Given the description of an element on the screen output the (x, y) to click on. 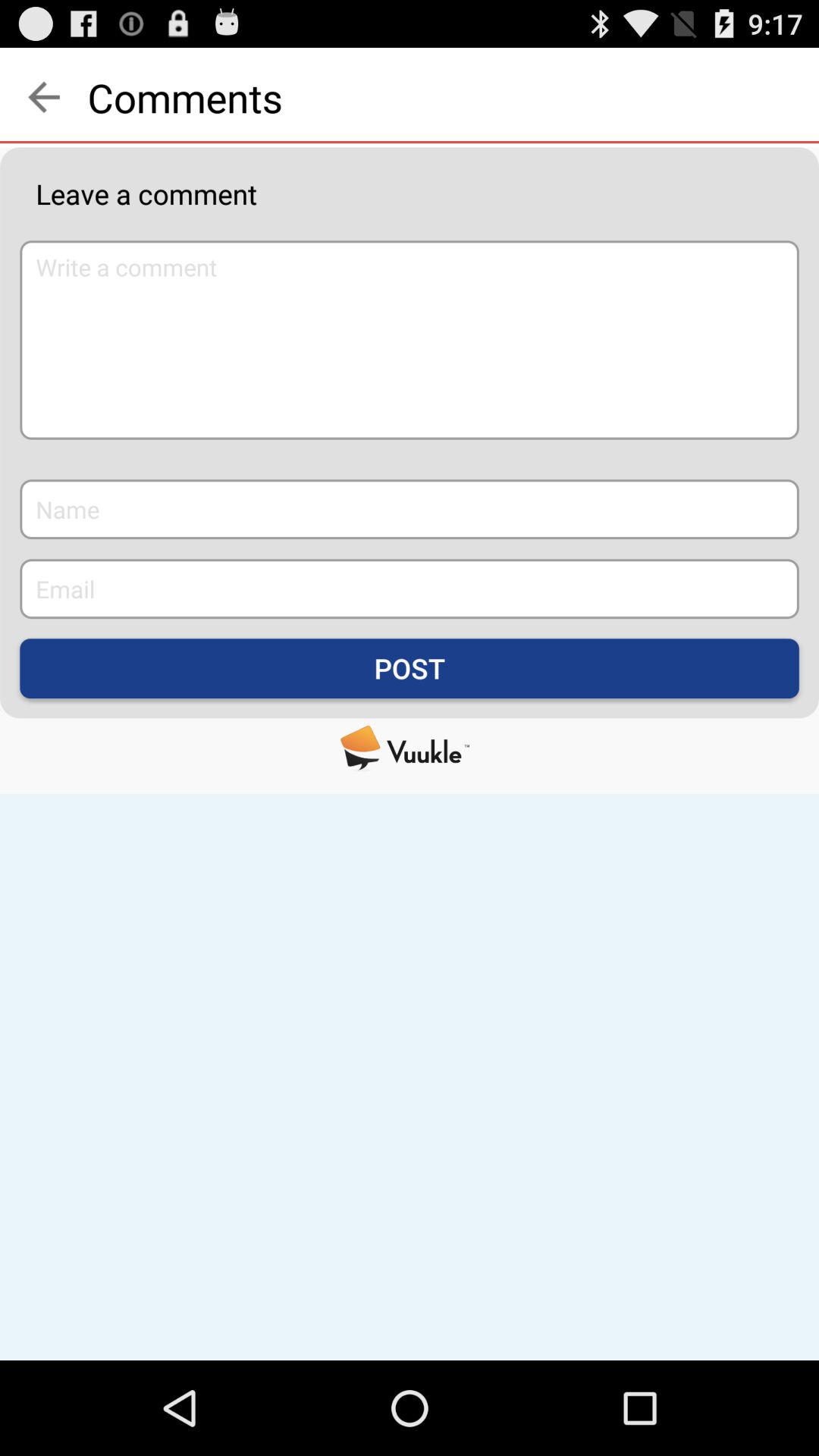
go back (43, 97)
